Given the description of an element on the screen output the (x, y) to click on. 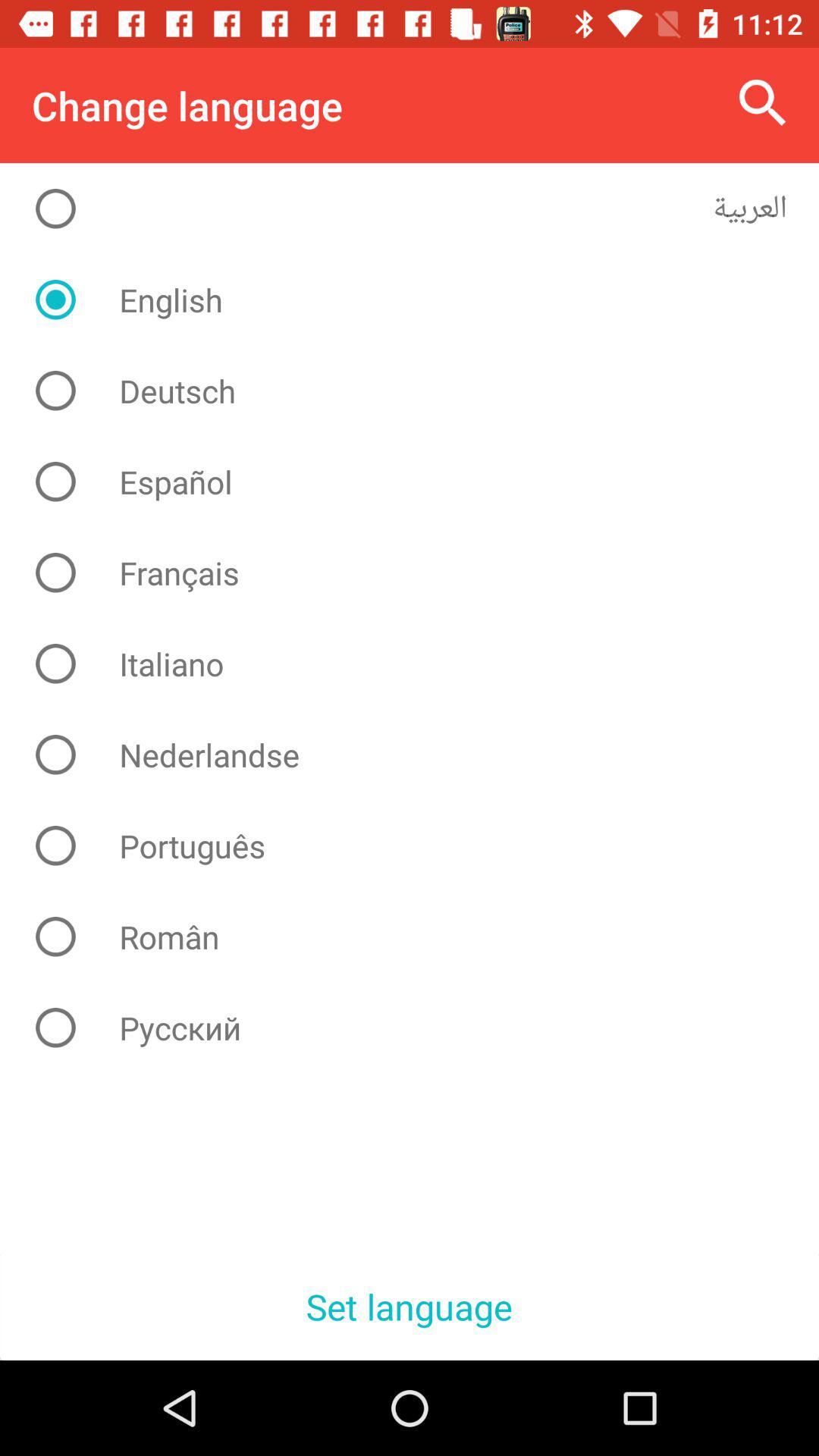
turn off the icon to the right of the change language icon (763, 103)
